Given the description of an element on the screen output the (x, y) to click on. 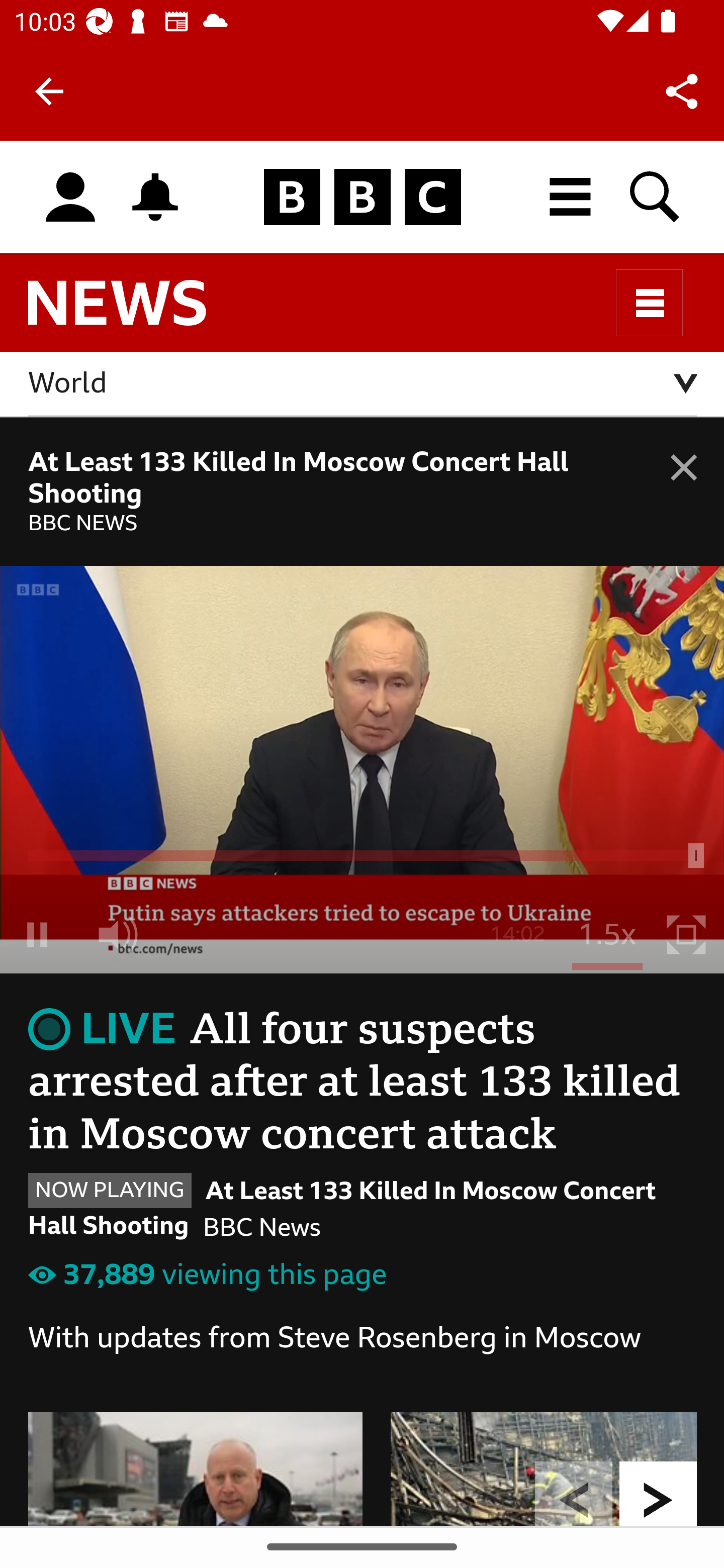
Back (49, 91)
Share (681, 90)
Notifications (155, 197)
All BBC destinations menu (570, 197)
Search BBC (655, 197)
Sign in (70, 198)
Homepage (361, 198)
Sections (650, 302)
BBC News (133, 310)
World (363, 384)
Close player (683, 874)
previous (574, 1493)
next (658, 1493)
